Given the description of an element on the screen output the (x, y) to click on. 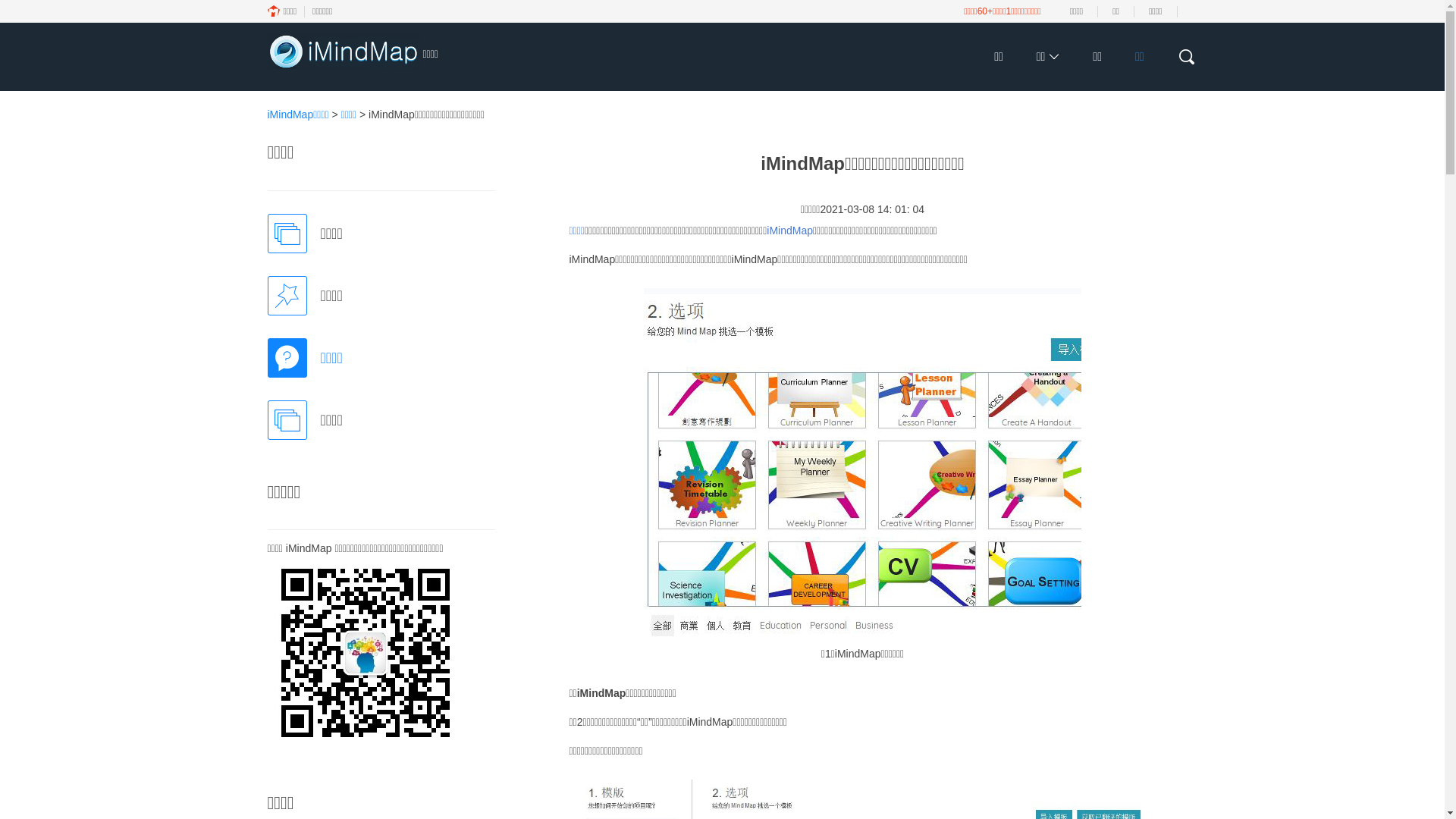
iMindMap Element type: text (789, 230)
